Given the description of an element on the screen output the (x, y) to click on. 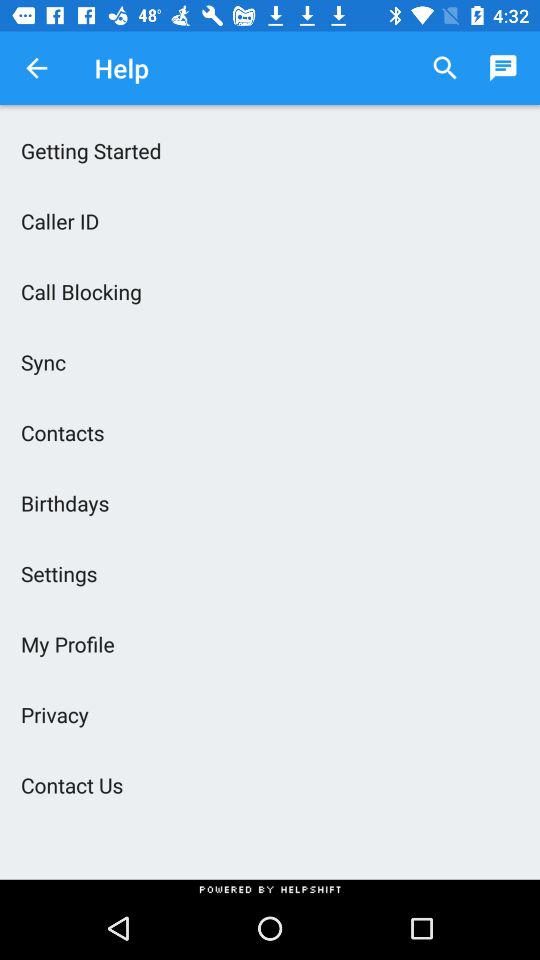
tap the item below contacts icon (270, 503)
